Given the description of an element on the screen output the (x, y) to click on. 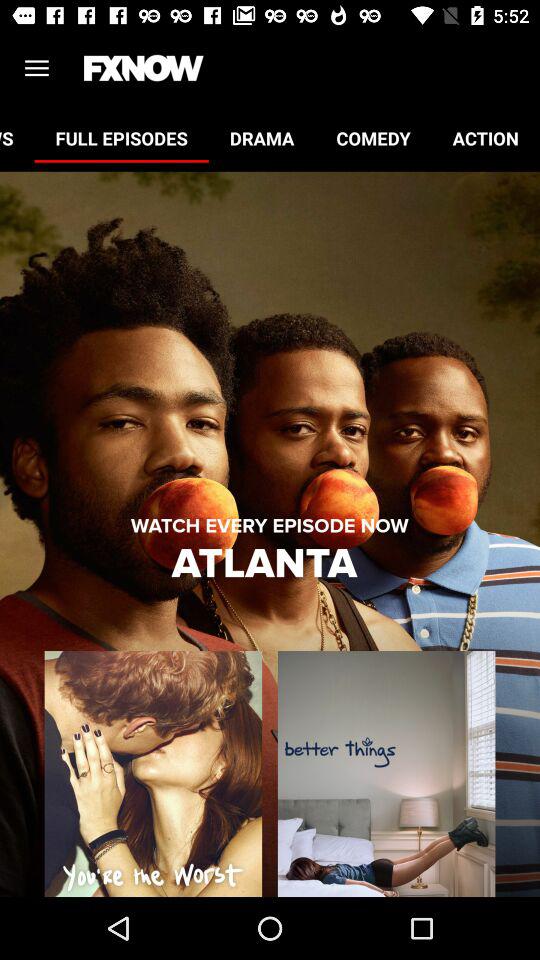
click the icon to the right of the comedy icon (485, 138)
